Given the description of an element on the screen output the (x, y) to click on. 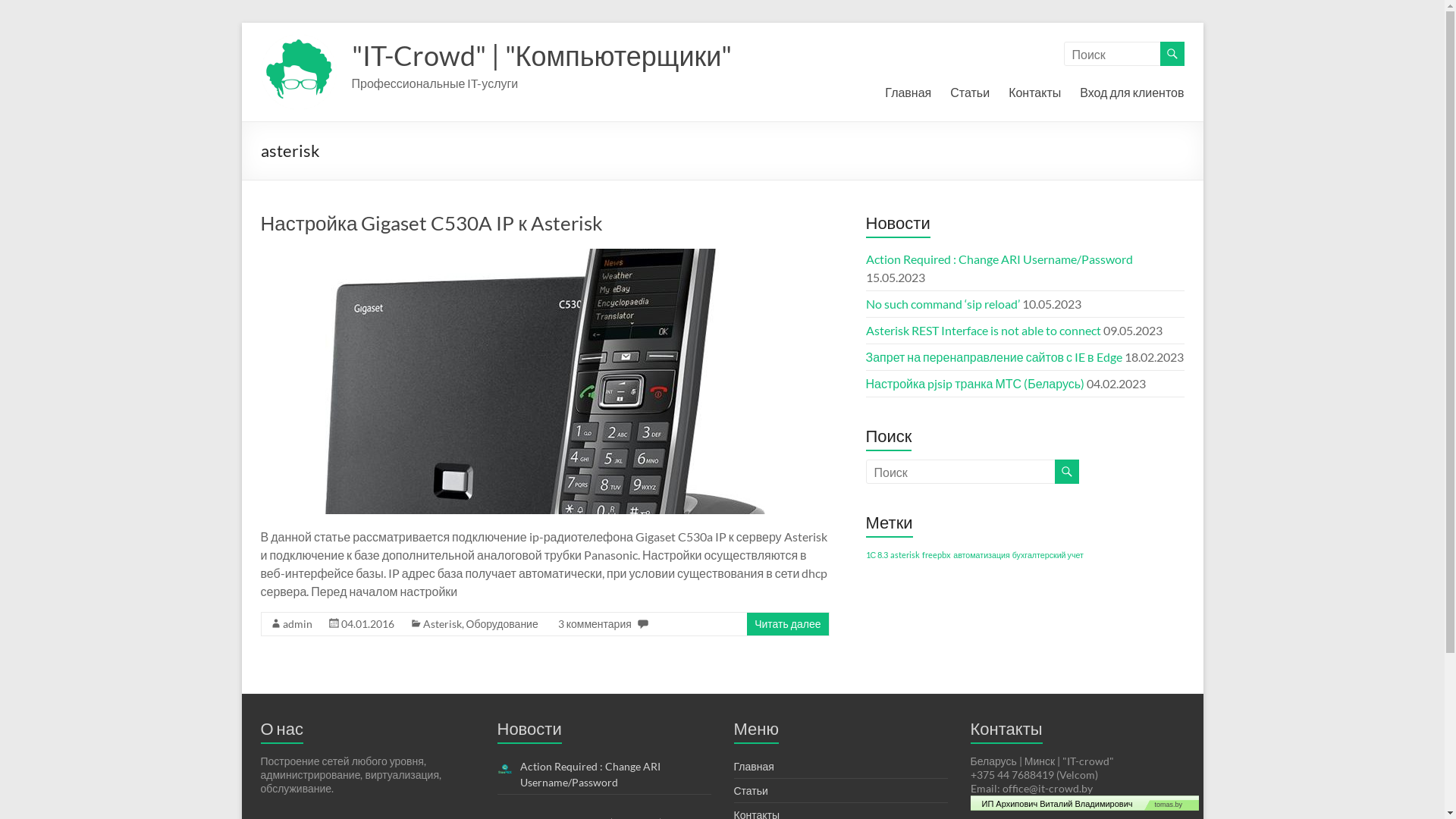
admin Element type: text (296, 623)
Asterisk REST Interface is not able to connect Element type: text (983, 330)
tomas.by Element type: text (1171, 802)
asterisk Element type: text (904, 554)
freepbx Element type: text (936, 554)
Asterisk Element type: text (442, 623)
Action Required : Change ARI Username/Password Element type: text (590, 773)
04.01.2016 Element type: text (367, 623)
Action Required : Change ARI Username/Password Element type: text (999, 258)
